Given the description of an element on the screen output the (x, y) to click on. 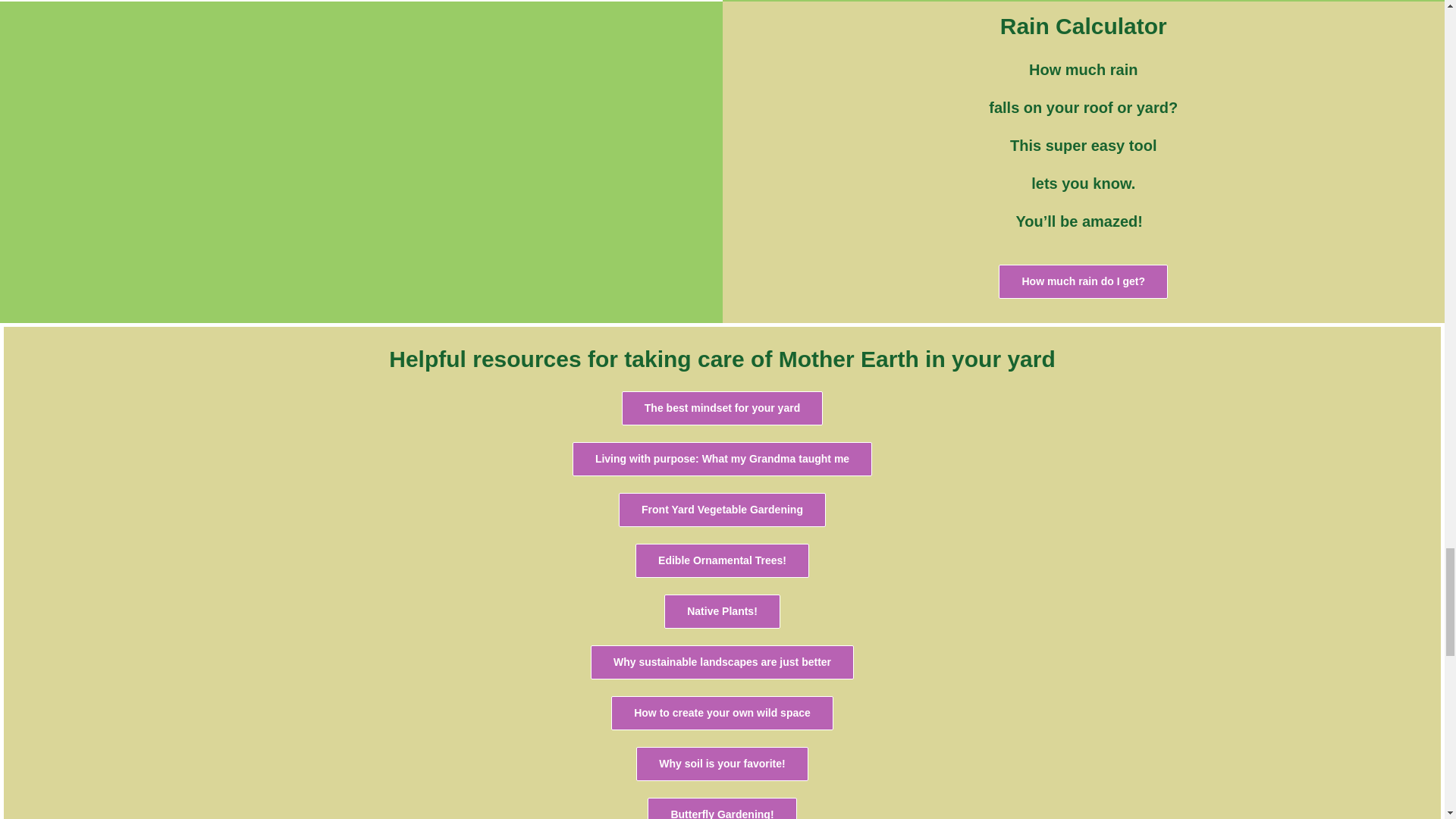
Edible Ornamental Trees! (721, 560)
Native Plants! (721, 611)
Living with purpose: What my Grandma taught me (722, 458)
How much rain do I get? (1082, 281)
Why sustainable landscapes are just better (722, 662)
Front Yard Vegetable Gardening (721, 510)
How to create your own wild space (721, 713)
The best mindset for your yard (721, 408)
